Given the description of an element on the screen output the (x, y) to click on. 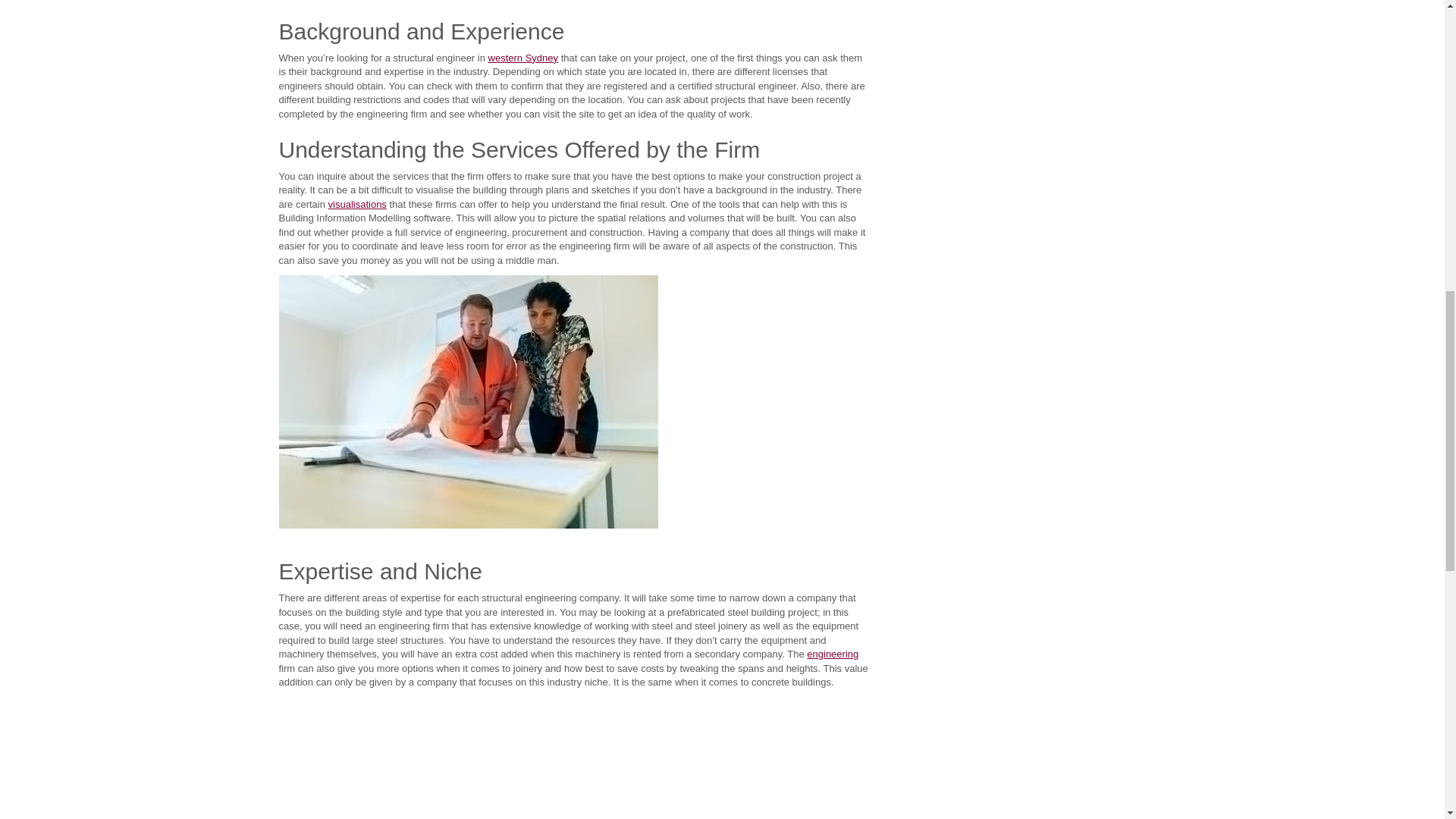
engineering (832, 654)
visualisations (358, 204)
western Sydney (523, 57)
